Given the description of an element on the screen output the (x, y) to click on. 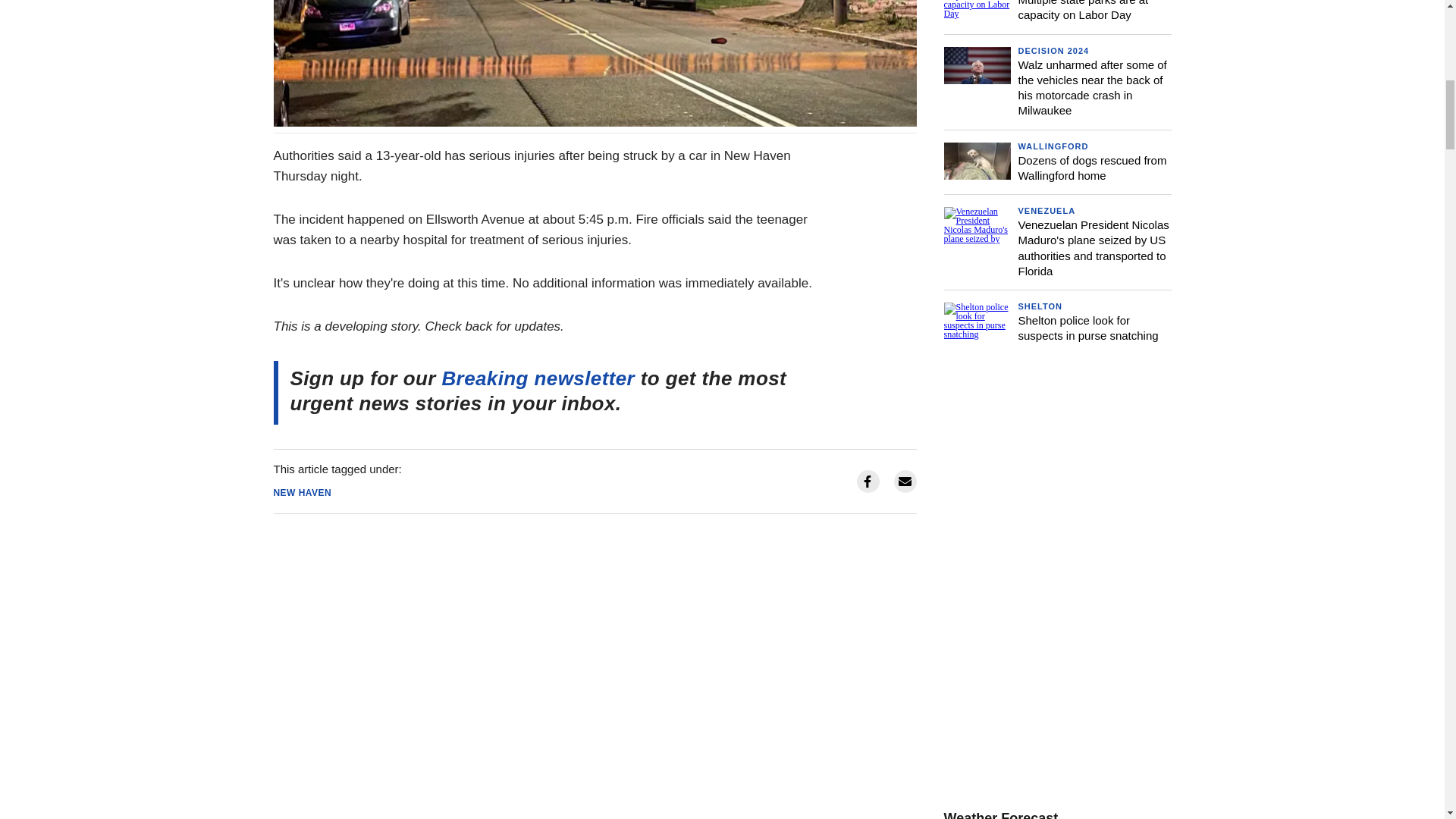
Multiple state parks are at capacity on Labor Day (1082, 10)
Breaking newsletter (540, 377)
DECISION 2024 (1053, 50)
NEW HAVEN (302, 492)
WALLINGFORD (1052, 145)
